Given the description of an element on the screen output the (x, y) to click on. 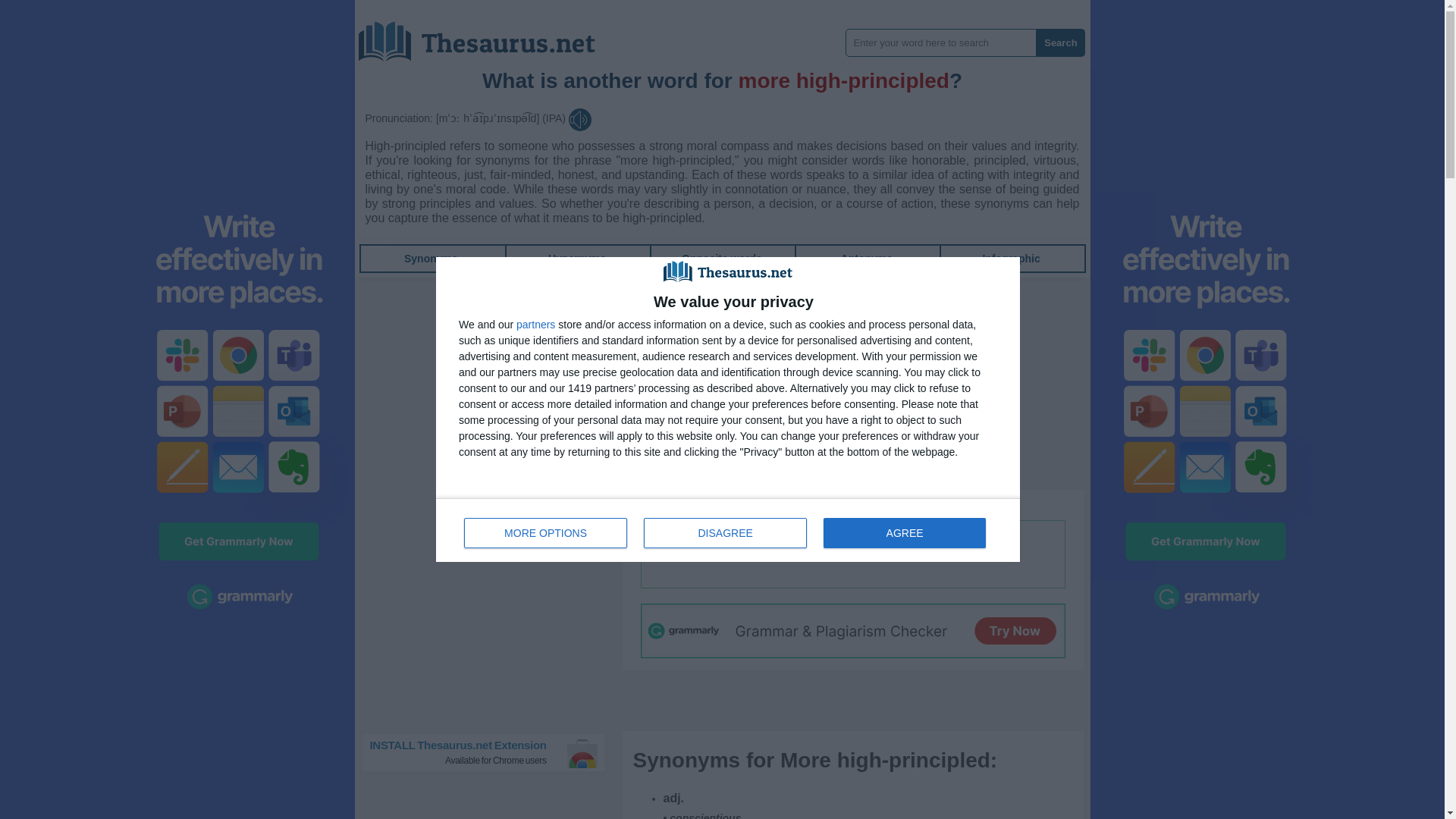
Antonyms (866, 258)
Synonyms (431, 258)
Opposite words (721, 258)
click here (875, 504)
Antonyms (866, 258)
MORE OPTIONS (727, 529)
Infographic (545, 532)
Search (489, 752)
